Given the description of an element on the screen output the (x, y) to click on. 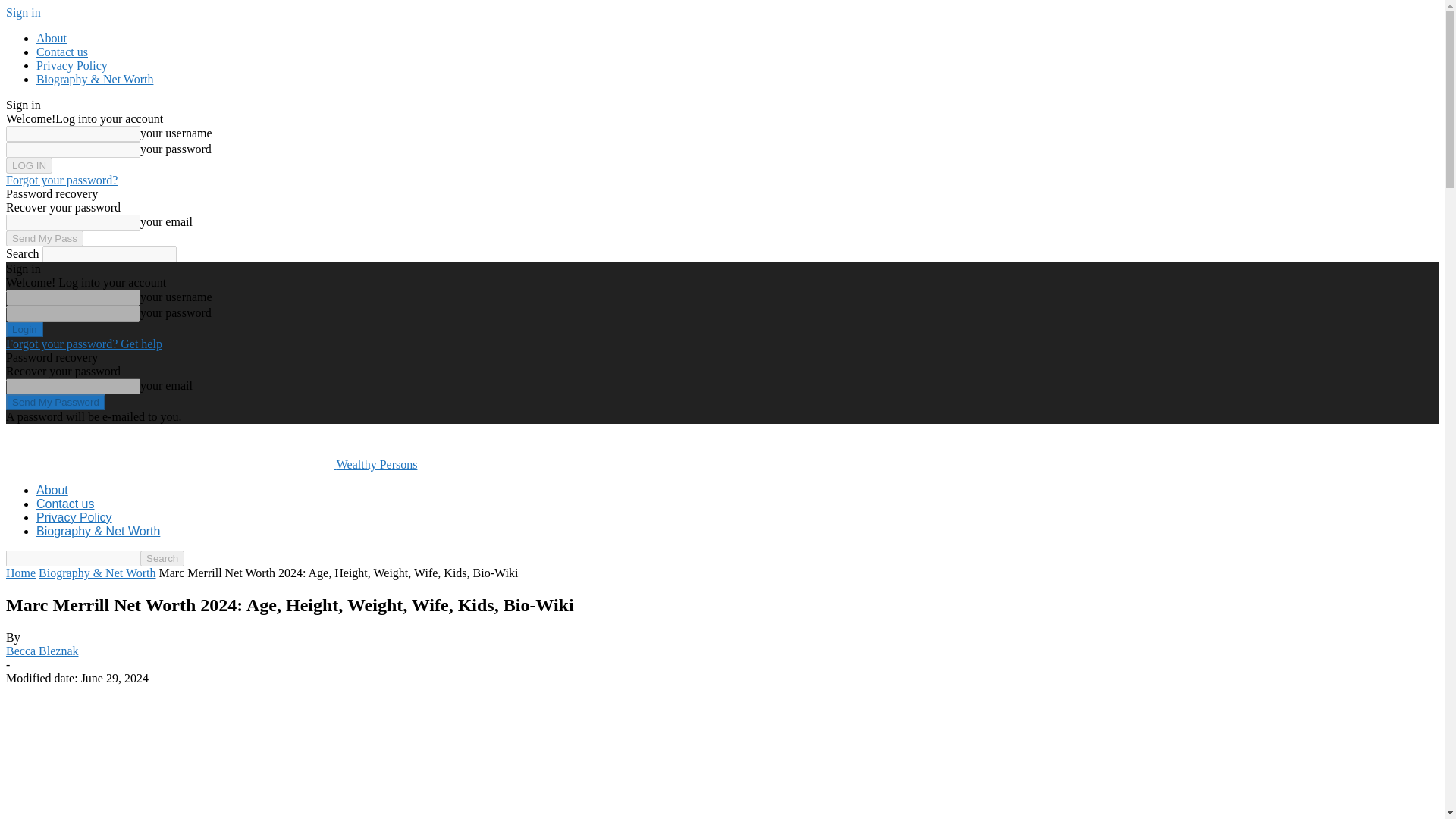
About (51, 38)
Sign in (22, 11)
Becca Bleznak (41, 650)
LOG IN (28, 165)
About (52, 490)
Contact us (61, 51)
Contact us (65, 503)
Home (19, 572)
Search (161, 558)
Login (24, 329)
Send My Pass (43, 238)
Forgot your password? Get help (83, 343)
Privacy Policy (74, 517)
Forgot your password? (61, 179)
Wealthy Persons (210, 463)
